Given the description of an element on the screen output the (x, y) to click on. 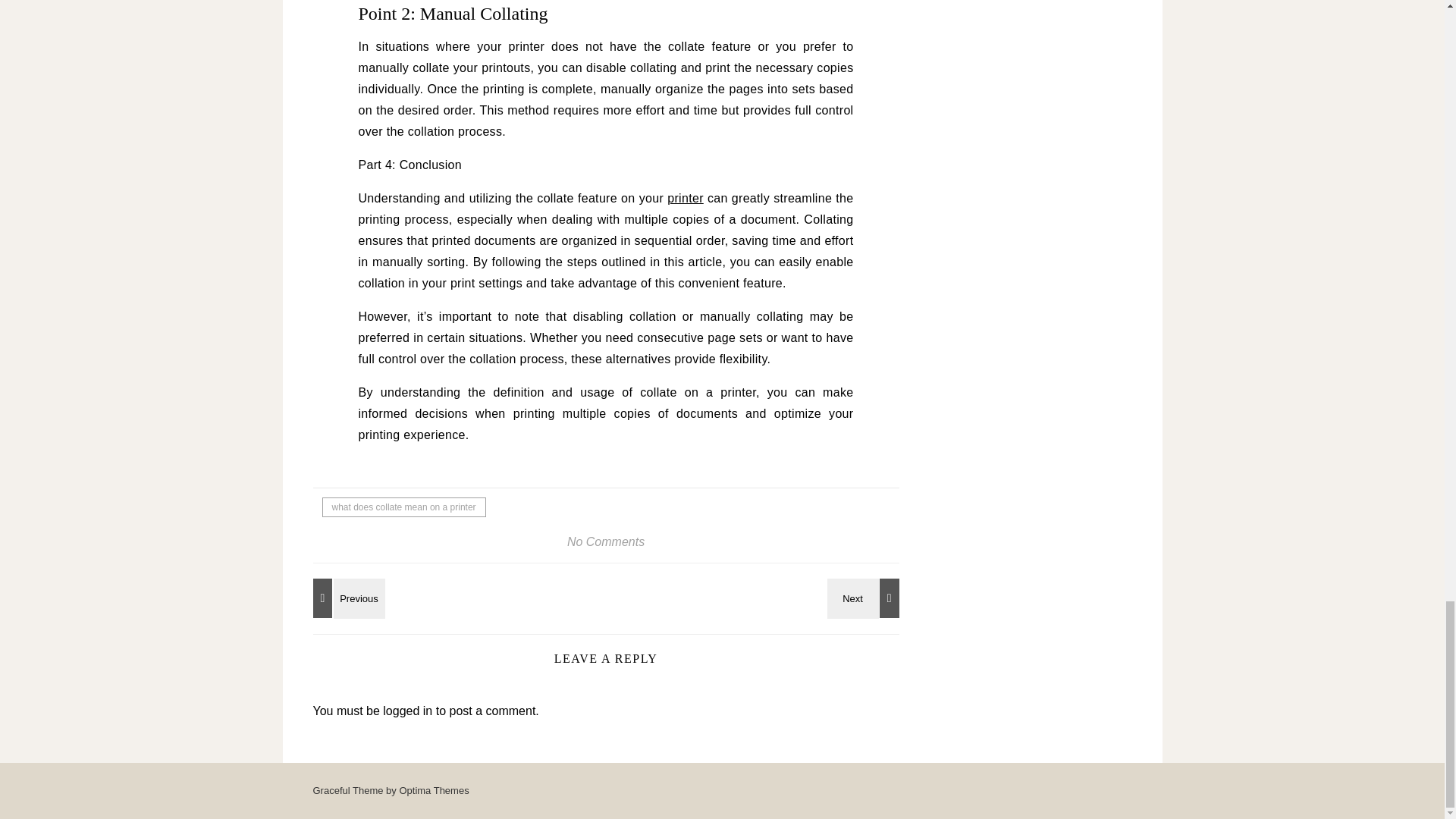
printer (684, 197)
logged in (407, 710)
HP Printer Drivers: Download and Install for Performance (346, 598)
what does collate mean on a printer (402, 506)
No Comments (606, 541)
Connect Chromebook to Printer: Simple Setup (865, 598)
Optima Themes (433, 790)
